Given the description of an element on the screen output the (x, y) to click on. 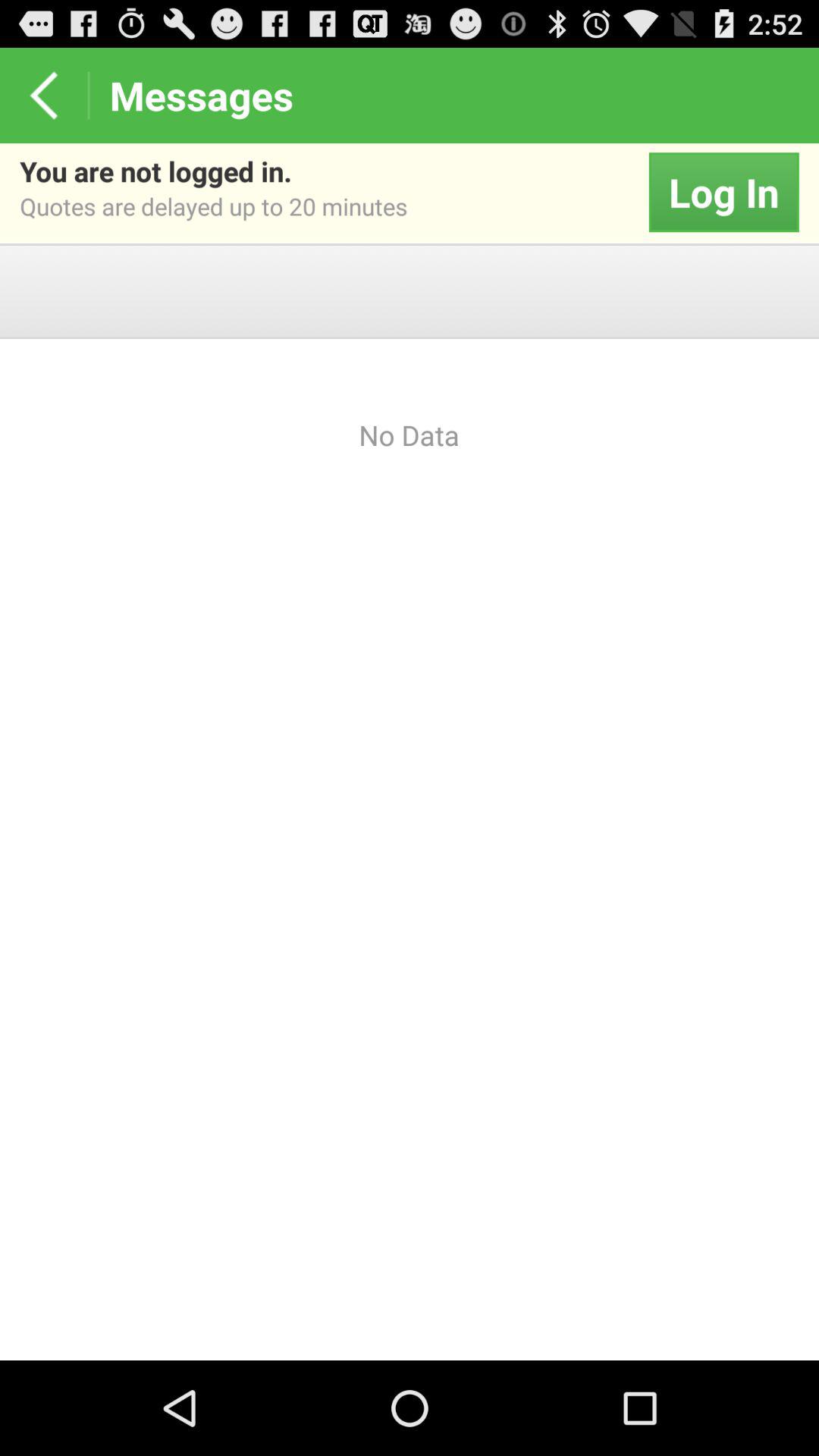
press the app above you are not icon (43, 95)
